Given the description of an element on the screen output the (x, y) to click on. 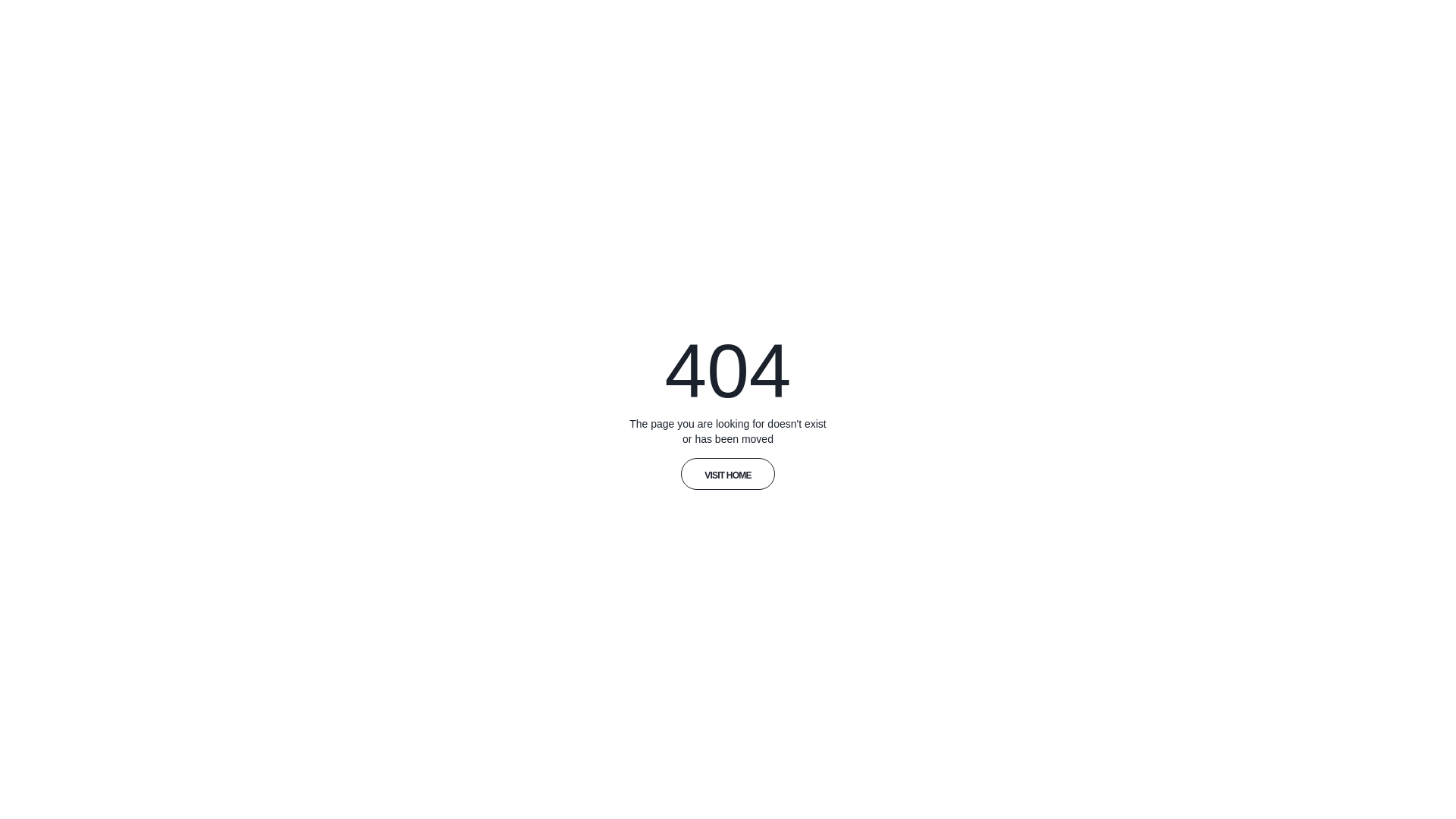
VISIT HOME Element type: text (727, 473)
